Given the description of an element on the screen output the (x, y) to click on. 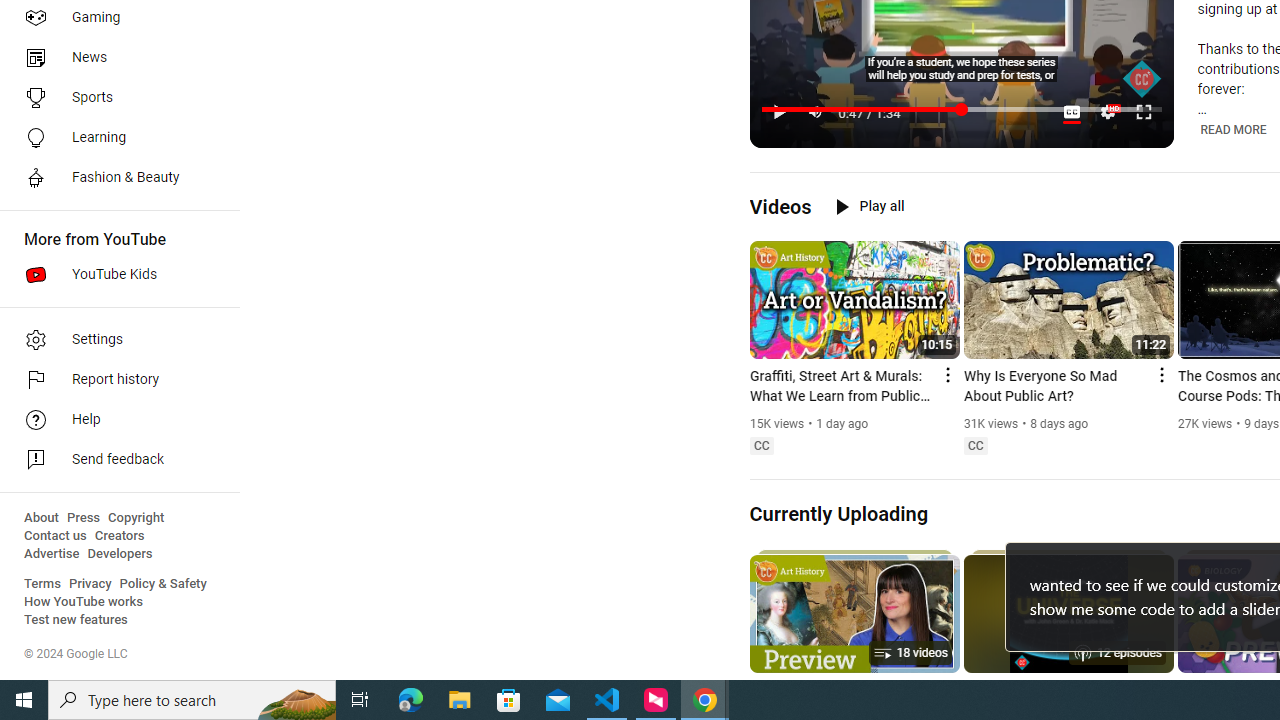
Play all (870, 206)
Privacy (89, 584)
Terms (42, 584)
About (41, 518)
Sports (113, 97)
Fashion & Beauty (113, 177)
Subtitles/closed captions unavailable (1071, 112)
Settings (1107, 112)
READ MORE (1233, 129)
Contact us (55, 536)
Closed captions (975, 446)
Full screen keyboard shortcut f (1143, 112)
Test new features (76, 620)
